Given the description of an element on the screen output the (x, y) to click on. 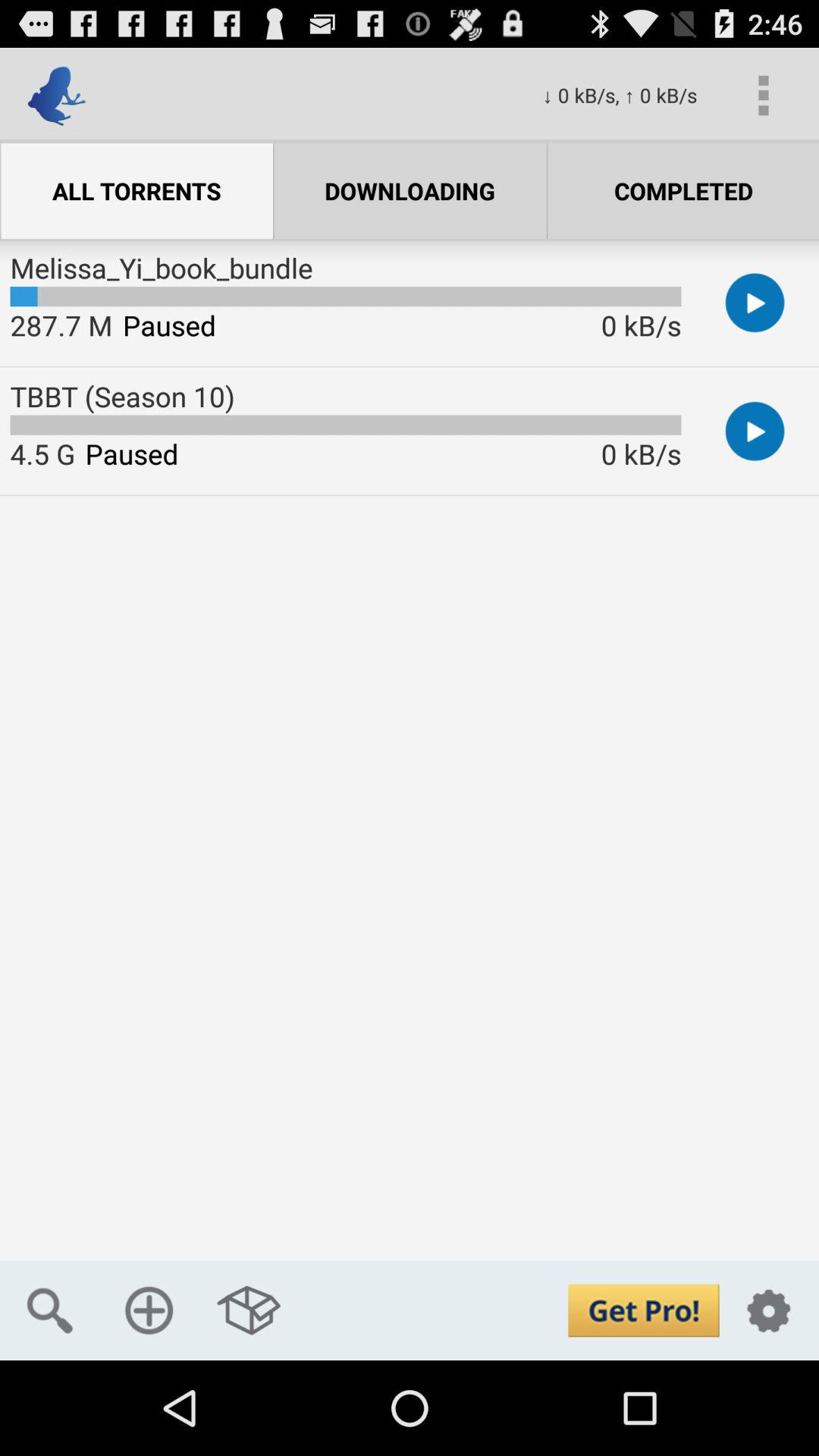
swipe to the tbbt (season 10) app (122, 396)
